Given the description of an element on the screen output the (x, y) to click on. 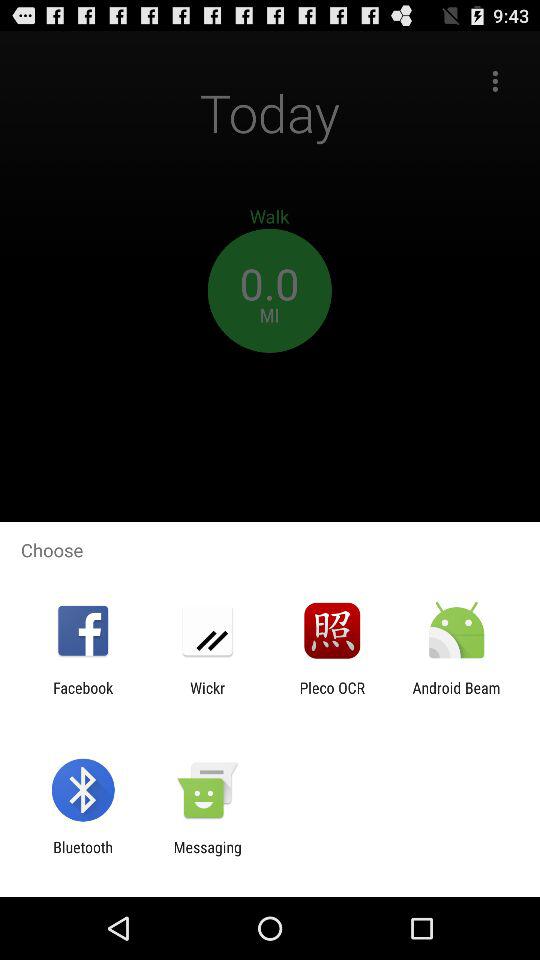
choose item next to wickr icon (331, 696)
